Given the description of an element on the screen output the (x, y) to click on. 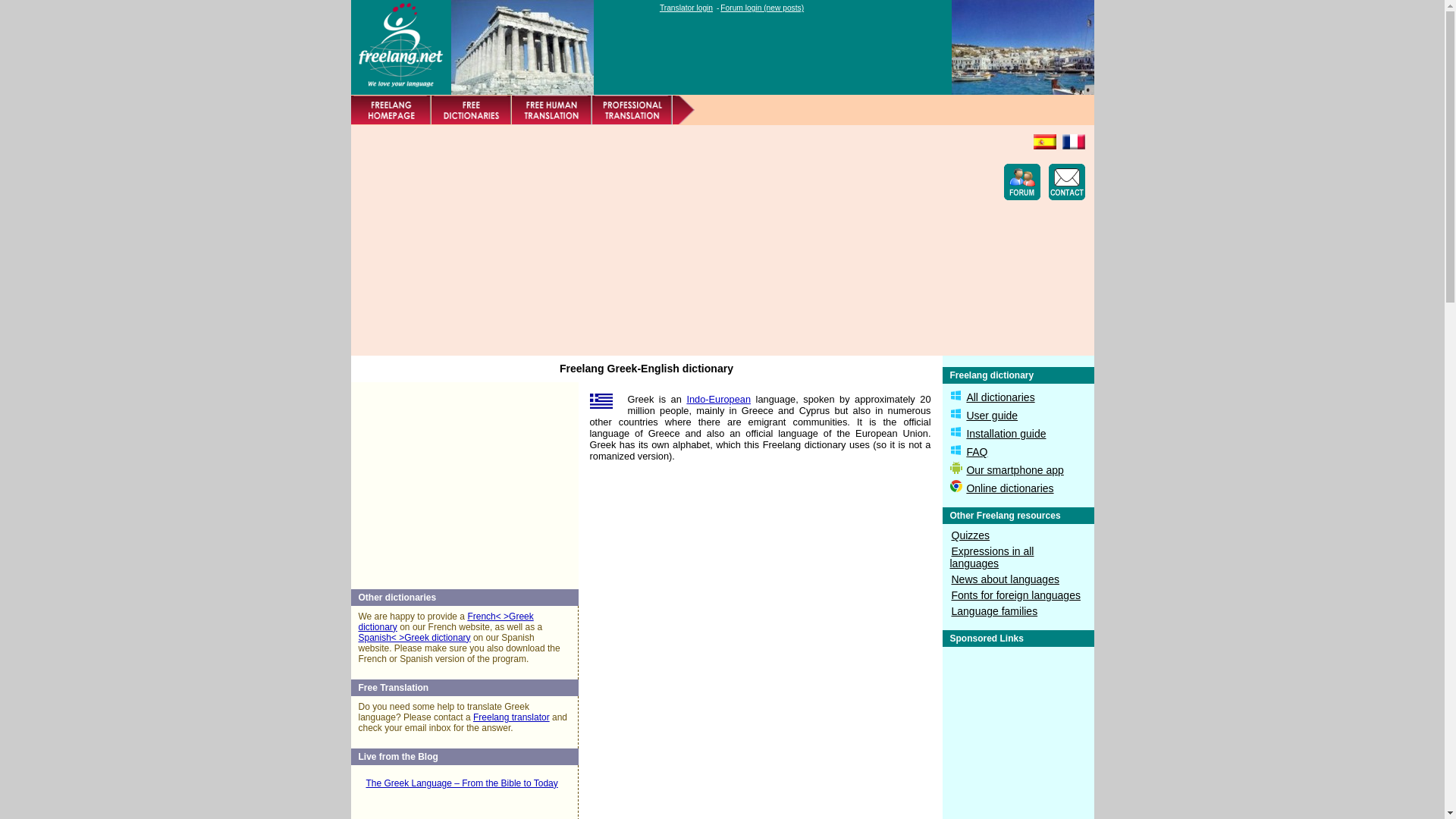
Advertisement (635, 240)
Quizzes (970, 535)
Freelang Greek-English dictionary (520, 47)
Freelang translator (511, 716)
Ask your questions or just meet our friendly members (1022, 181)
Installation guide (1005, 433)
Test your knowledge about languages and cultures (970, 535)
Frequently asked questions... and the answers too! (976, 451)
Free downloadable and online dictionaries (470, 110)
Language families (993, 611)
Common expressions translated in many languages (991, 557)
Email our volunteers for free human translation (551, 110)
Fill in a form and we will reply by email (1066, 181)
Fonts for foreign languages (1015, 594)
Our smartphone app (1014, 469)
